Given the description of an element on the screen output the (x, y) to click on. 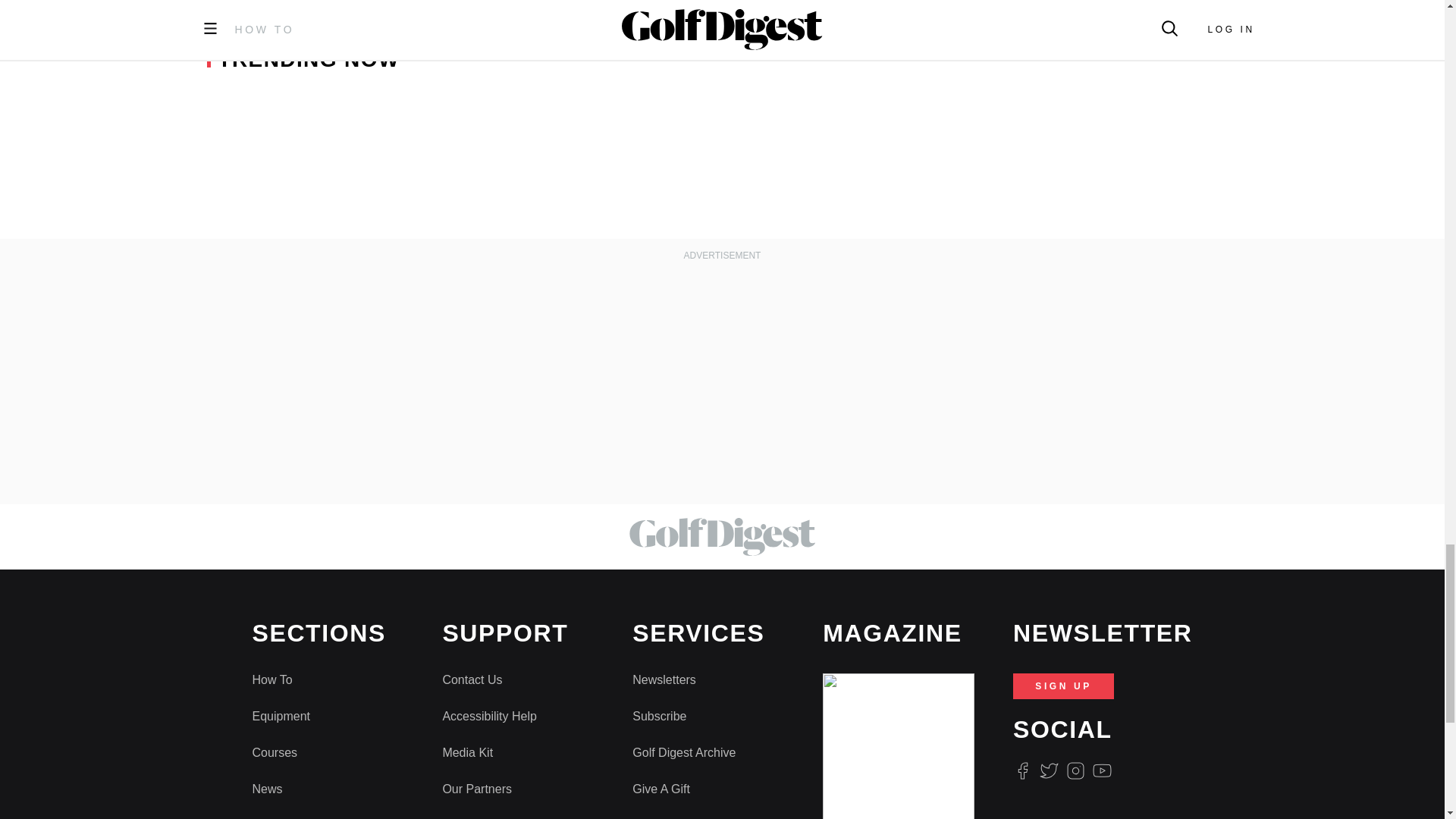
Youtube Icon (1102, 770)
Instagram Logo (1074, 770)
Twitter Logo (1048, 770)
Facebook Logo (1022, 770)
